Given the description of an element on the screen output the (x, y) to click on. 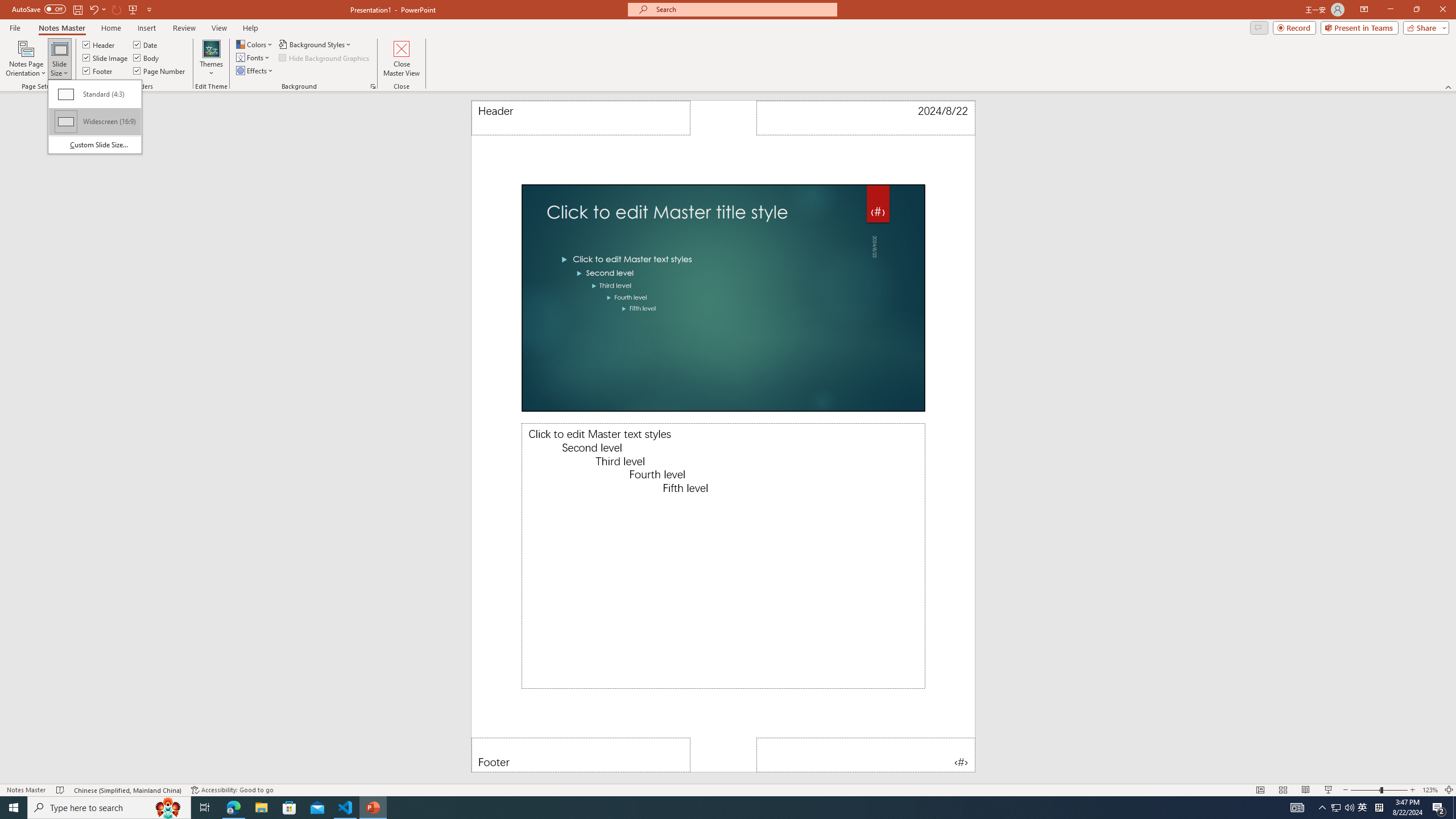
Body (147, 56)
Fonts (253, 56)
Header (98, 44)
Slide Size (95, 116)
Format Background... (372, 85)
